Given the description of an element on the screen output the (x, y) to click on. 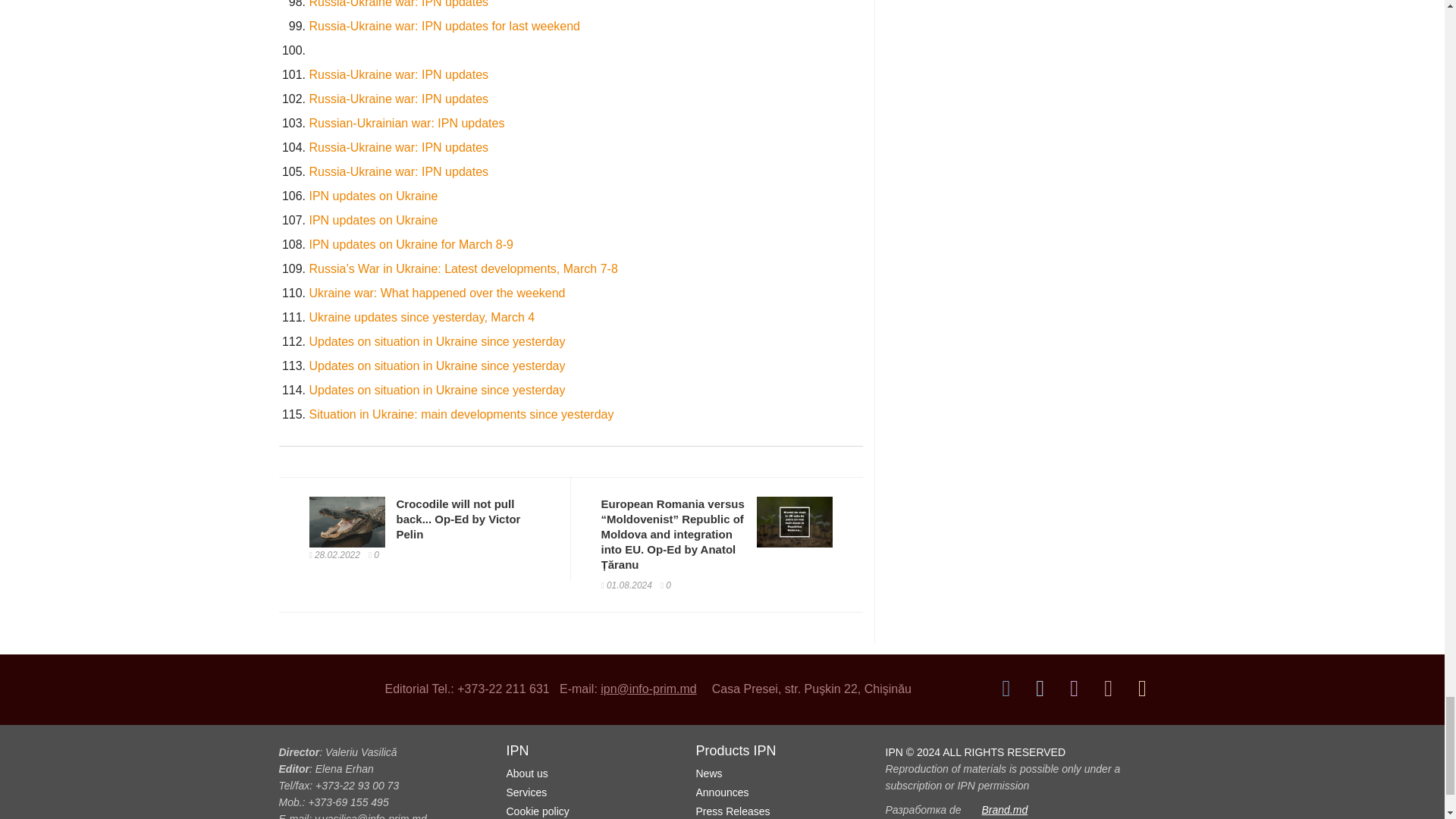
twitter (1040, 687)
instagram (1074, 687)
